Given the description of an element on the screen output the (x, y) to click on. 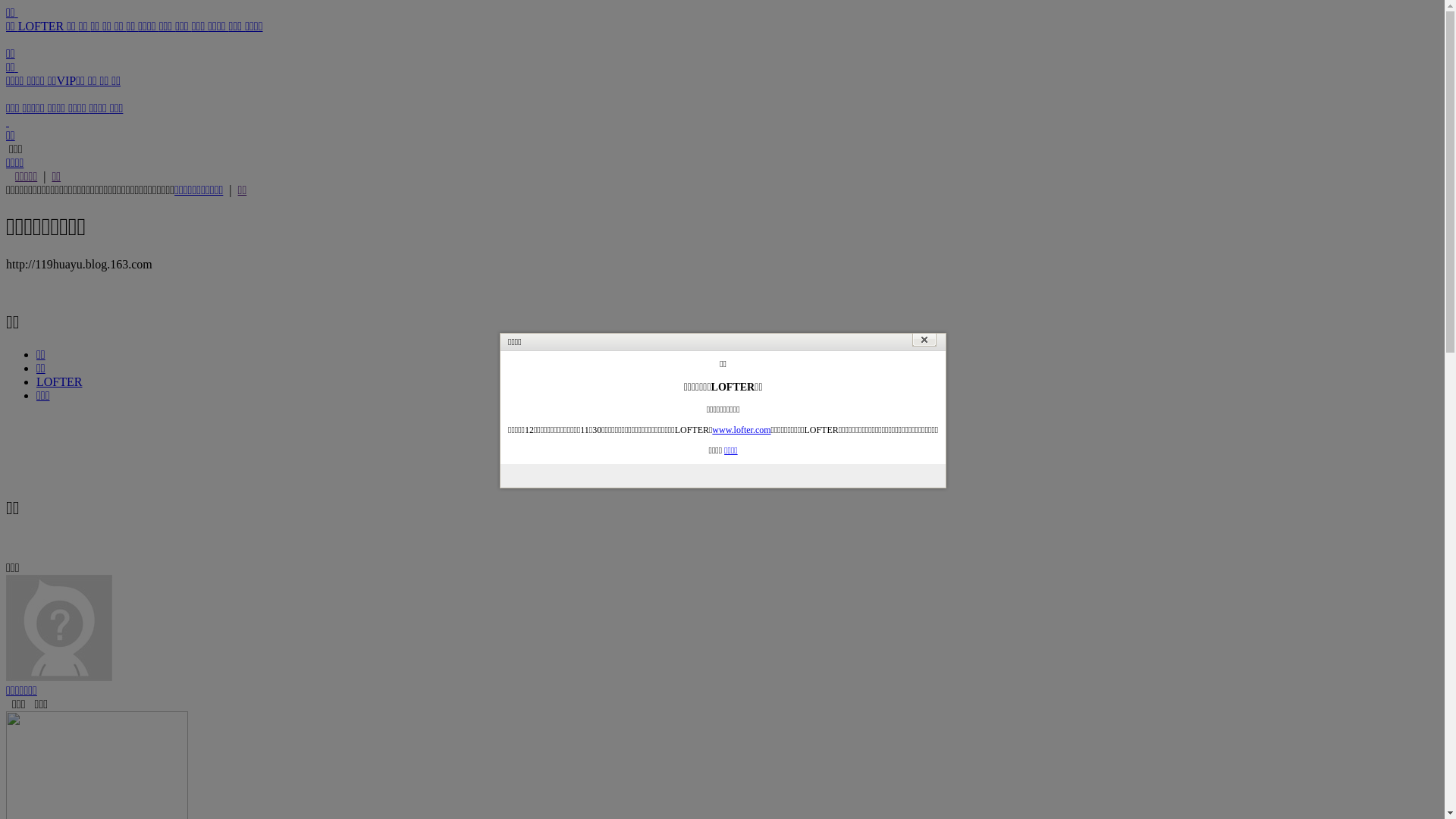
  Element type: text (7, 121)
LOFTER Element type: text (42, 25)
LOFTER Element type: text (58, 381)
www.lofter.com Element type: text (741, 429)
